Given the description of an element on the screen output the (x, y) to click on. 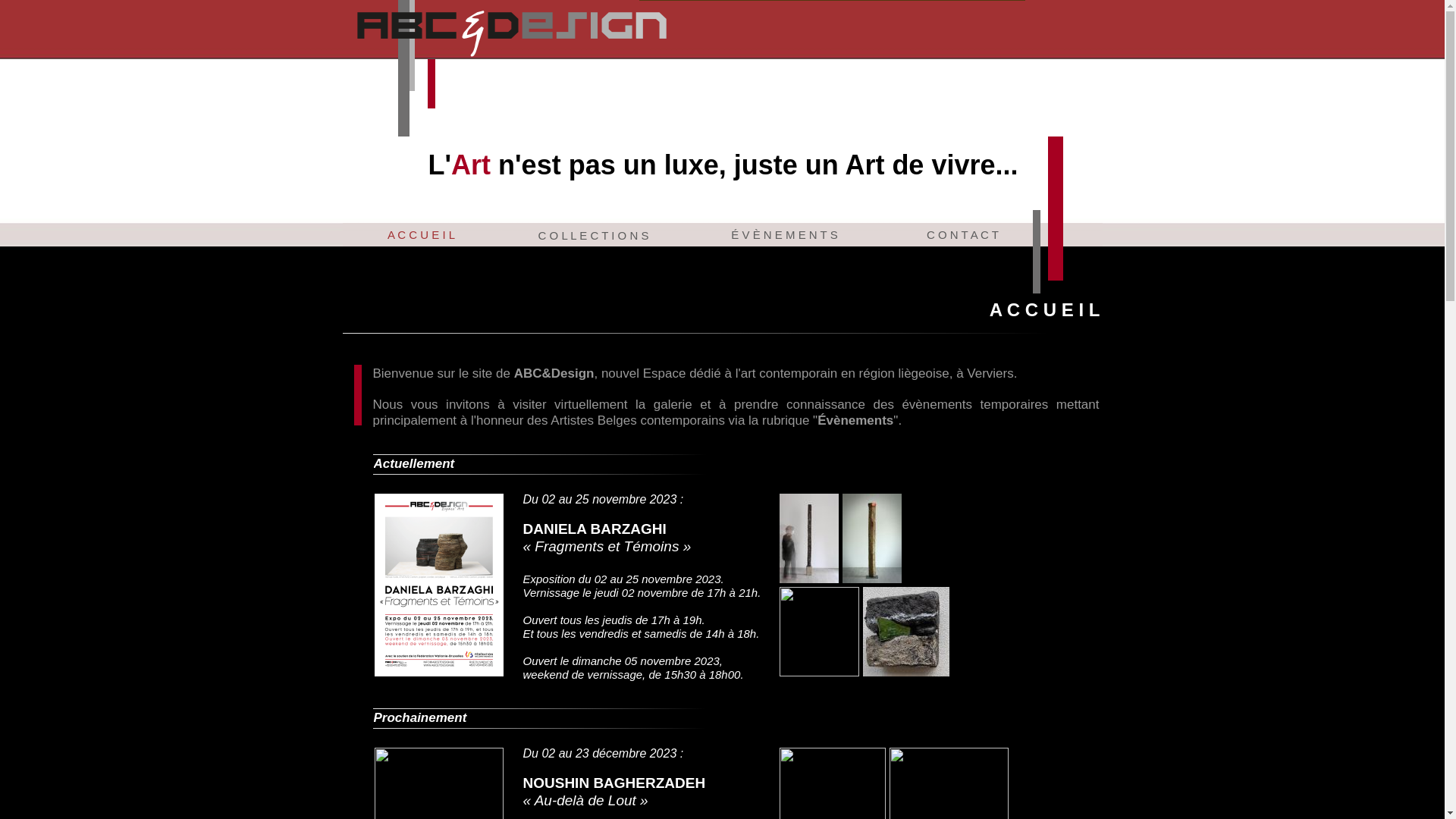
  Element type: text (343, 6)
A C C U E I L Element type: text (421, 233)
C O N T A C T Element type: text (962, 233)
ABC&Design Element type: hover (511, 31)
C O L L E C T I O N S Element type: text (593, 235)
A C C U E I L Element type: text (420, 233)
C O N T A C T Element type: text (962, 233)
C O L L E C T I O N S Element type: text (593, 234)
